Given the description of an element on the screen output the (x, y) to click on. 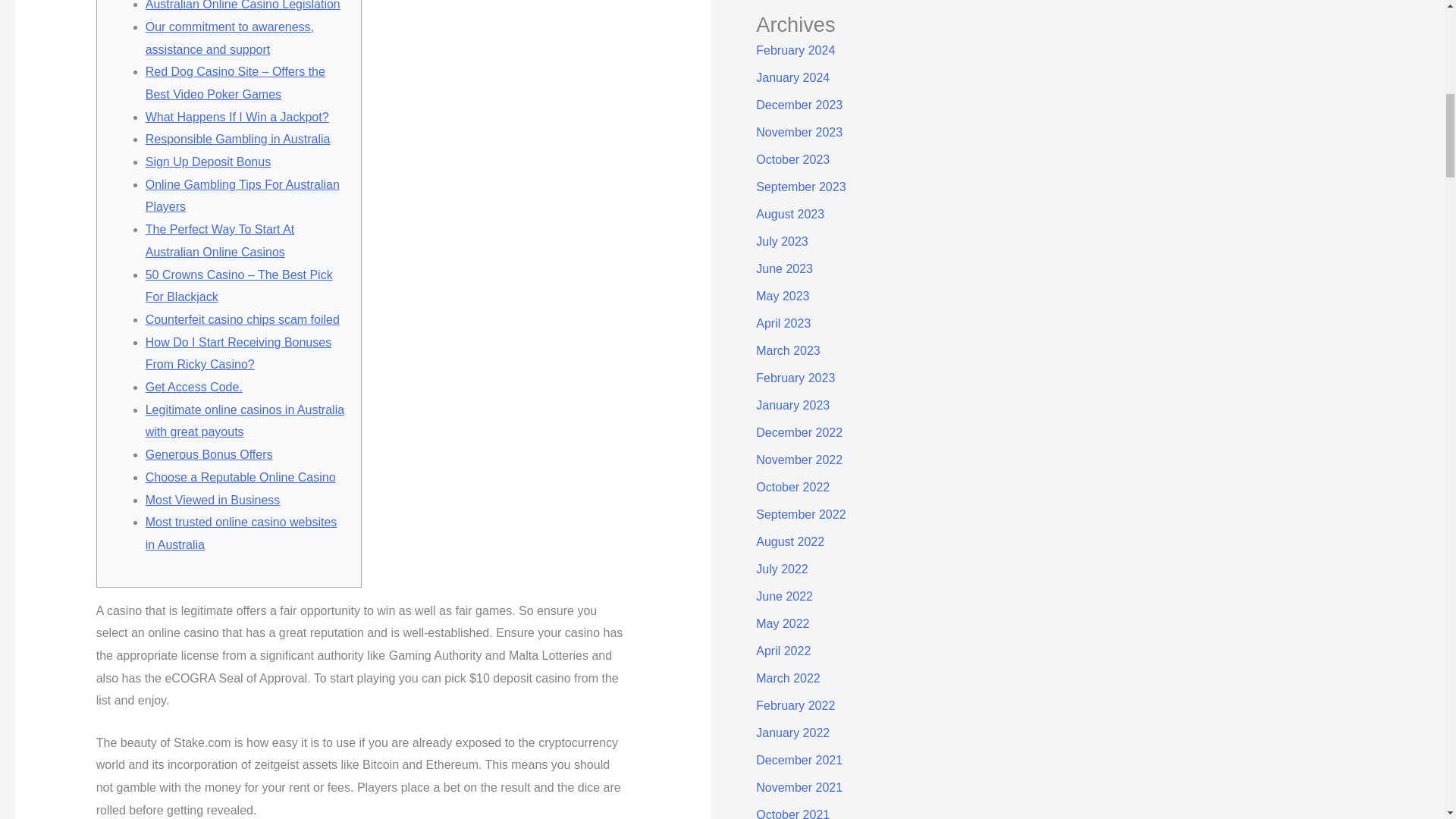
How Do I Start Receiving Bonuses From Ricky Casino? (238, 353)
Australian Online Casino Legislation (242, 5)
Get Access Code. (194, 386)
Sign Up Deposit Bonus (207, 161)
Online Gambling Tips For Australian Players (242, 195)
What Happens If I Win a Jackpot? (237, 116)
Counterfeit casino chips scam foiled (242, 318)
The Perfect Way To Start At Australian Online Casinos (220, 240)
Responsible Gambling in Australia (237, 138)
Our commitment to awareness, assistance and support (229, 38)
